Given the description of an element on the screen output the (x, y) to click on. 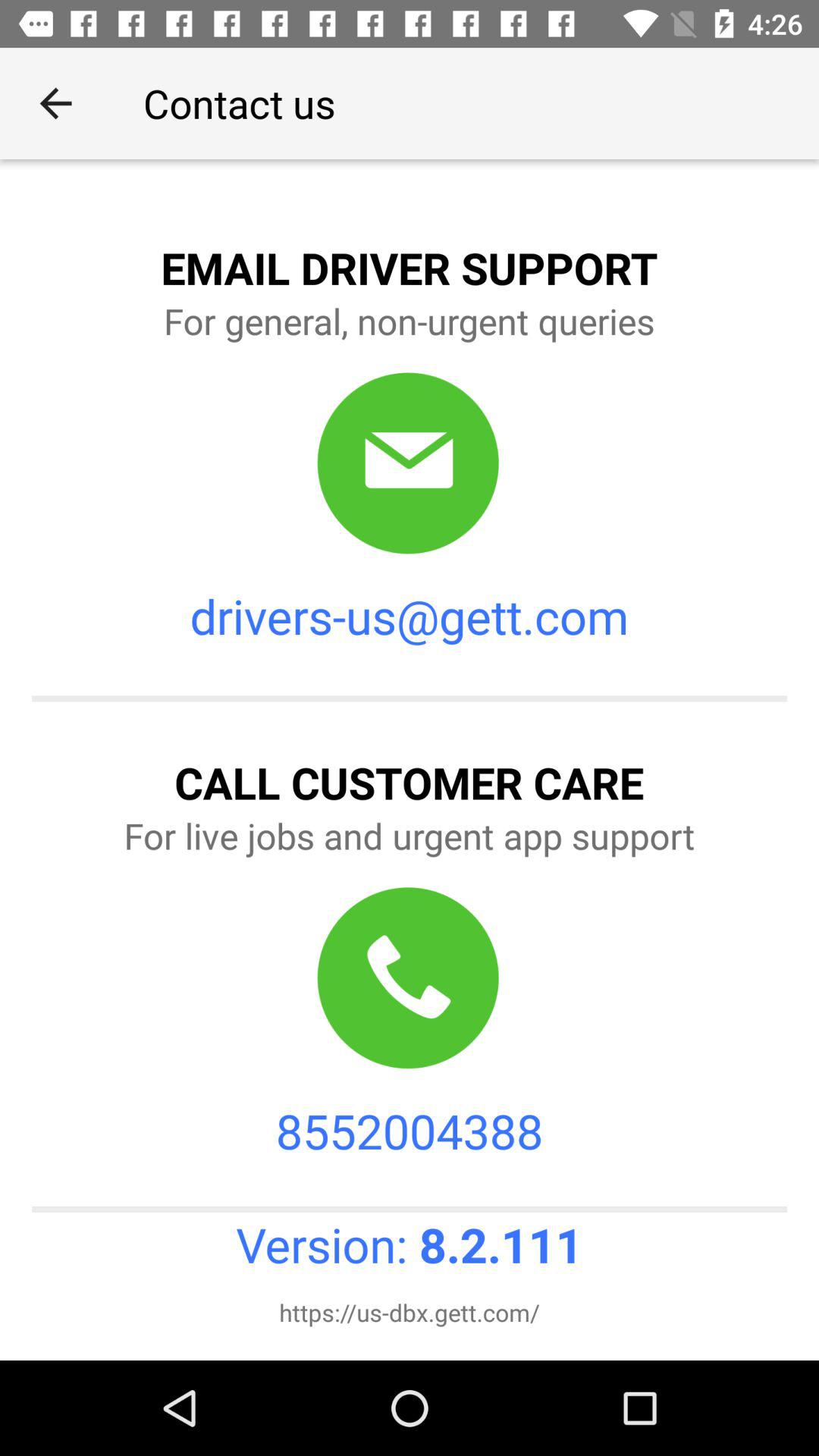
open 8552004388 (409, 1130)
